Given the description of an element on the screen output the (x, y) to click on. 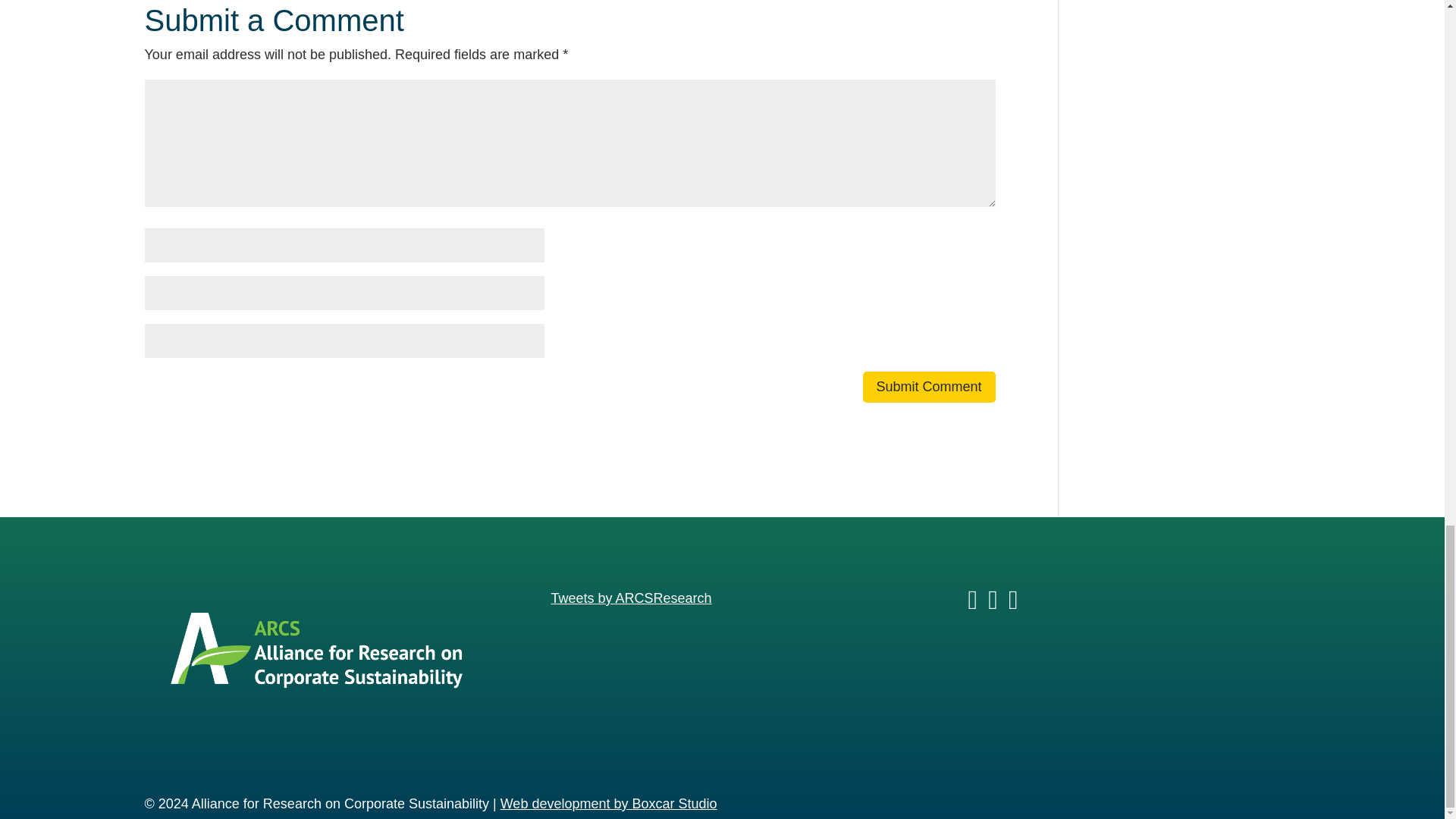
Submit Comment (929, 386)
